Given the description of an element on the screen output the (x, y) to click on. 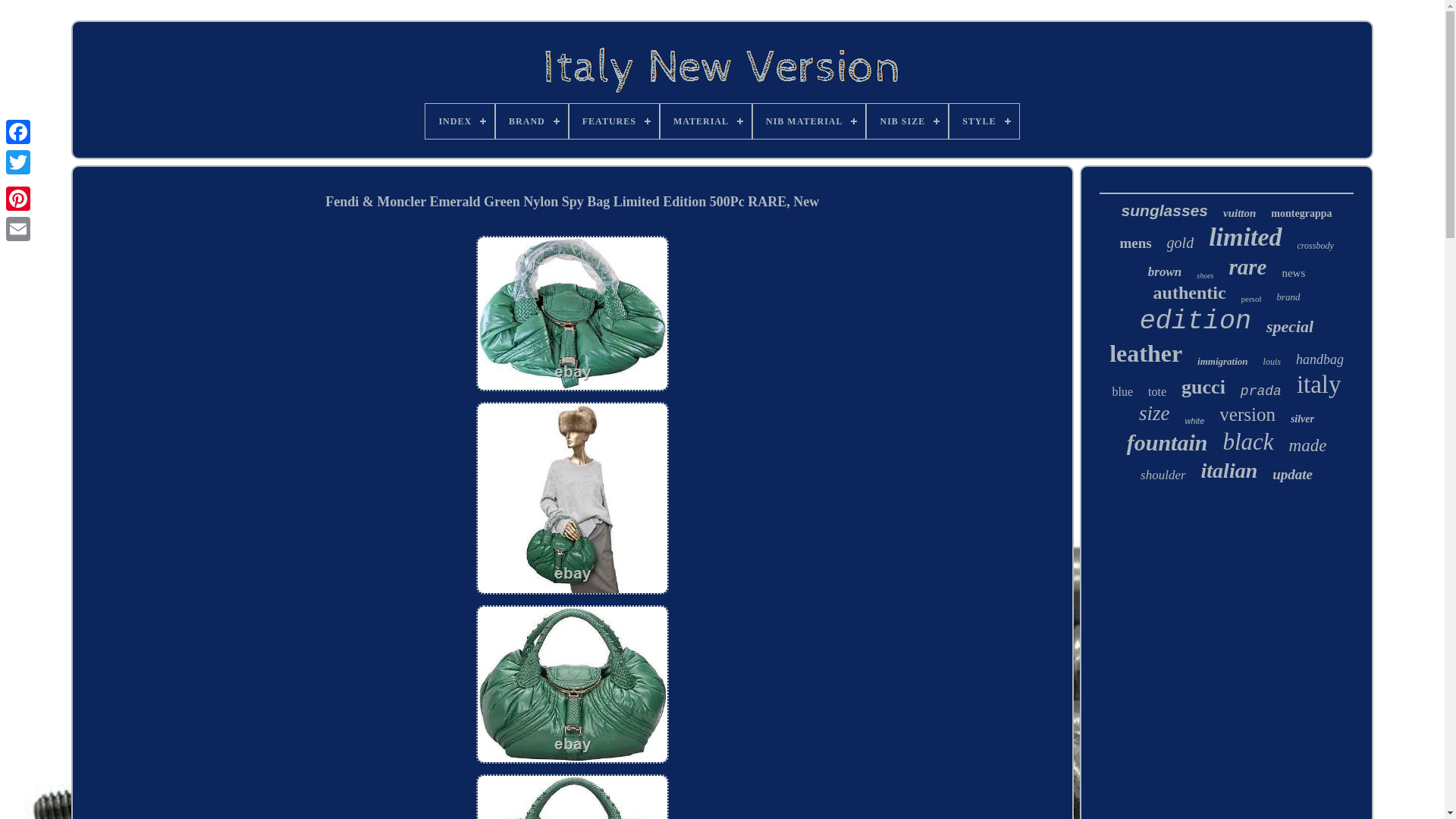
FEATURES (614, 121)
INDEX (460, 121)
BRAND (531, 121)
